Given the description of an element on the screen output the (x, y) to click on. 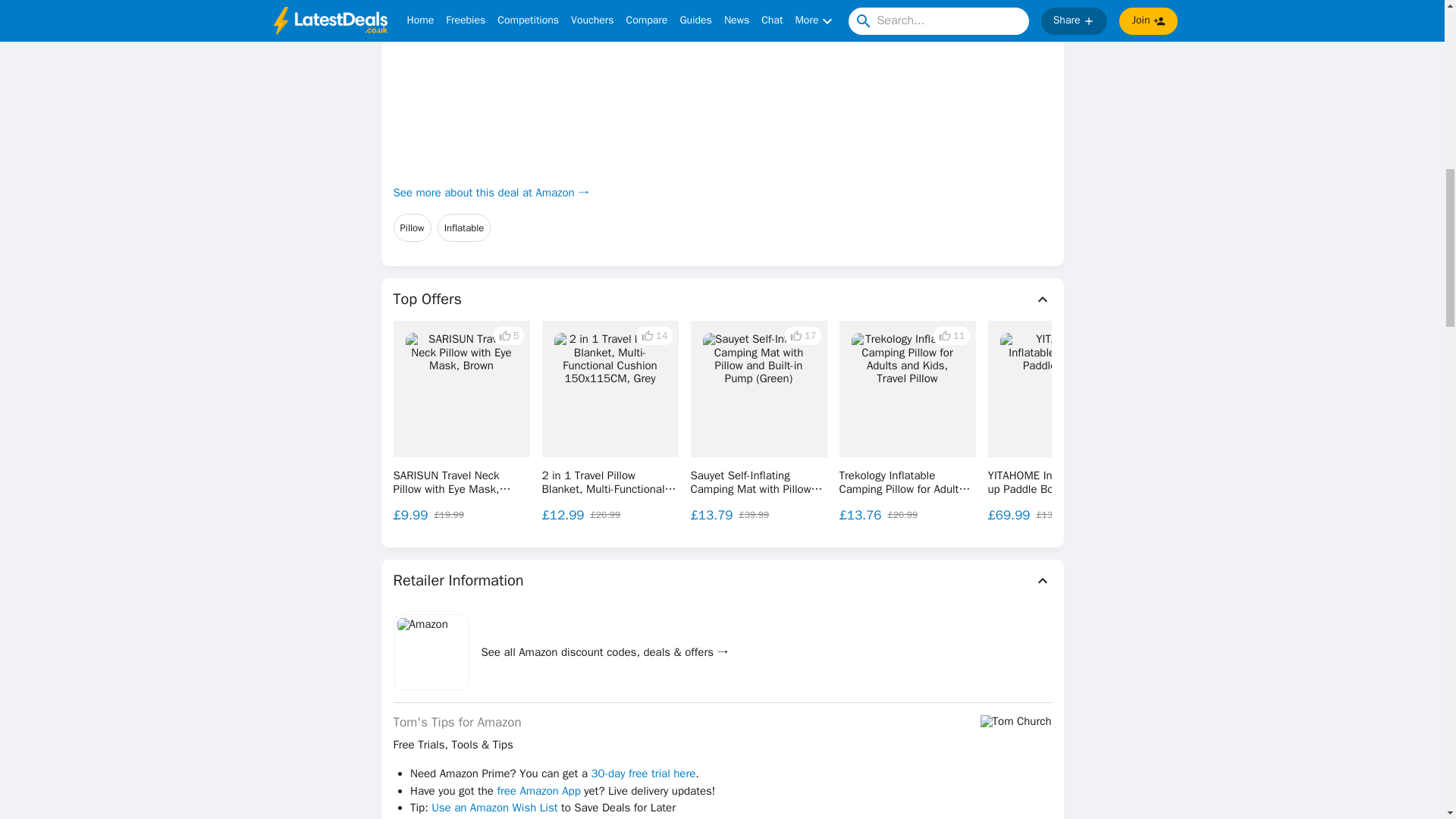
Retailer Information (722, 580)
See more offers (1329, 421)
Inflatable (465, 227)
Pillow (411, 227)
Top Offers (722, 299)
